Given the description of an element on the screen output the (x, y) to click on. 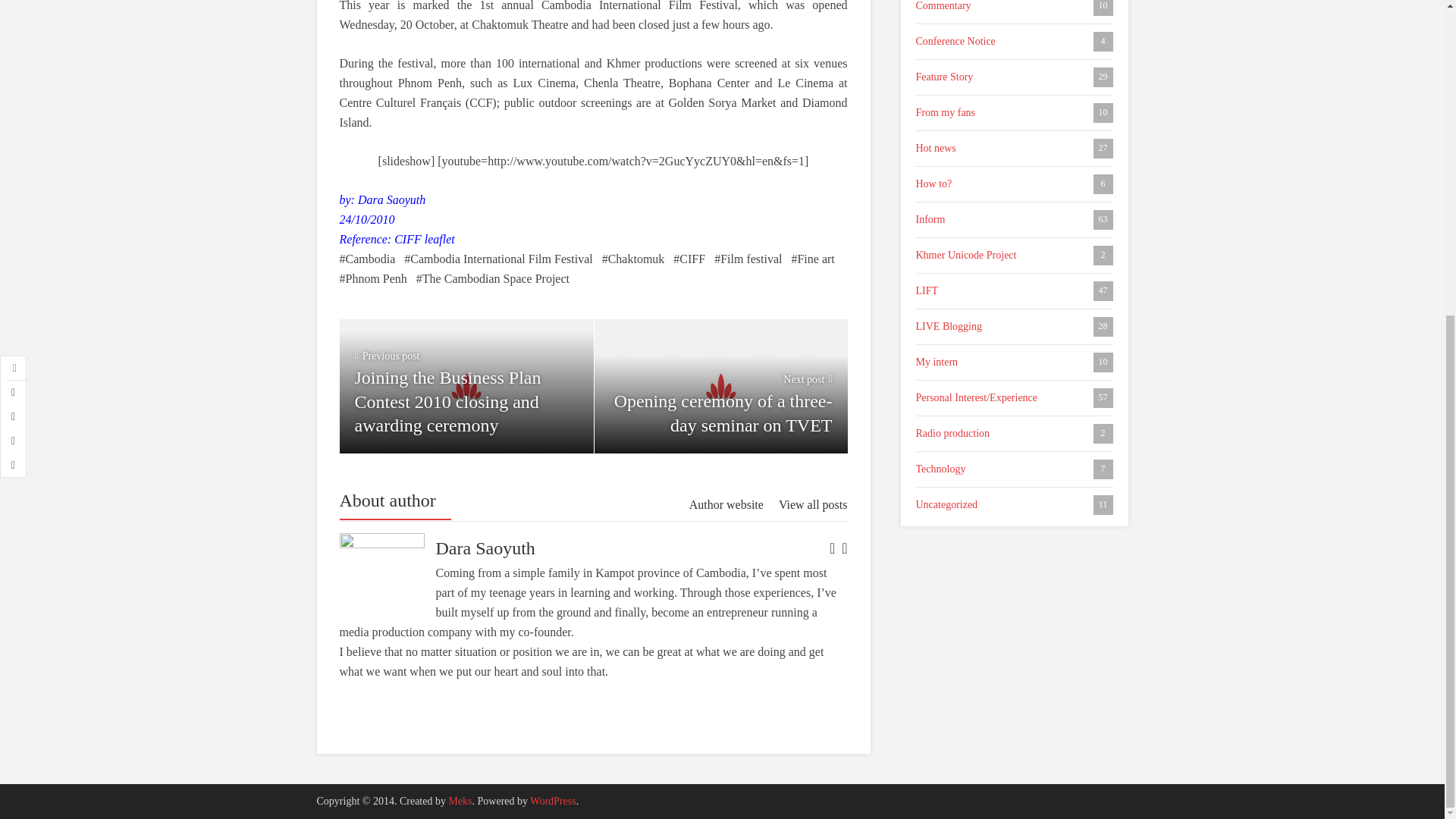
CIFF (688, 259)
View all posts (812, 505)
Cambodia (367, 259)
Film festival (1014, 184)
Chaktomuk (747, 259)
Author website (1014, 255)
Fine art (633, 259)
Phnom Penh (1014, 219)
